Given the description of an element on the screen output the (x, y) to click on. 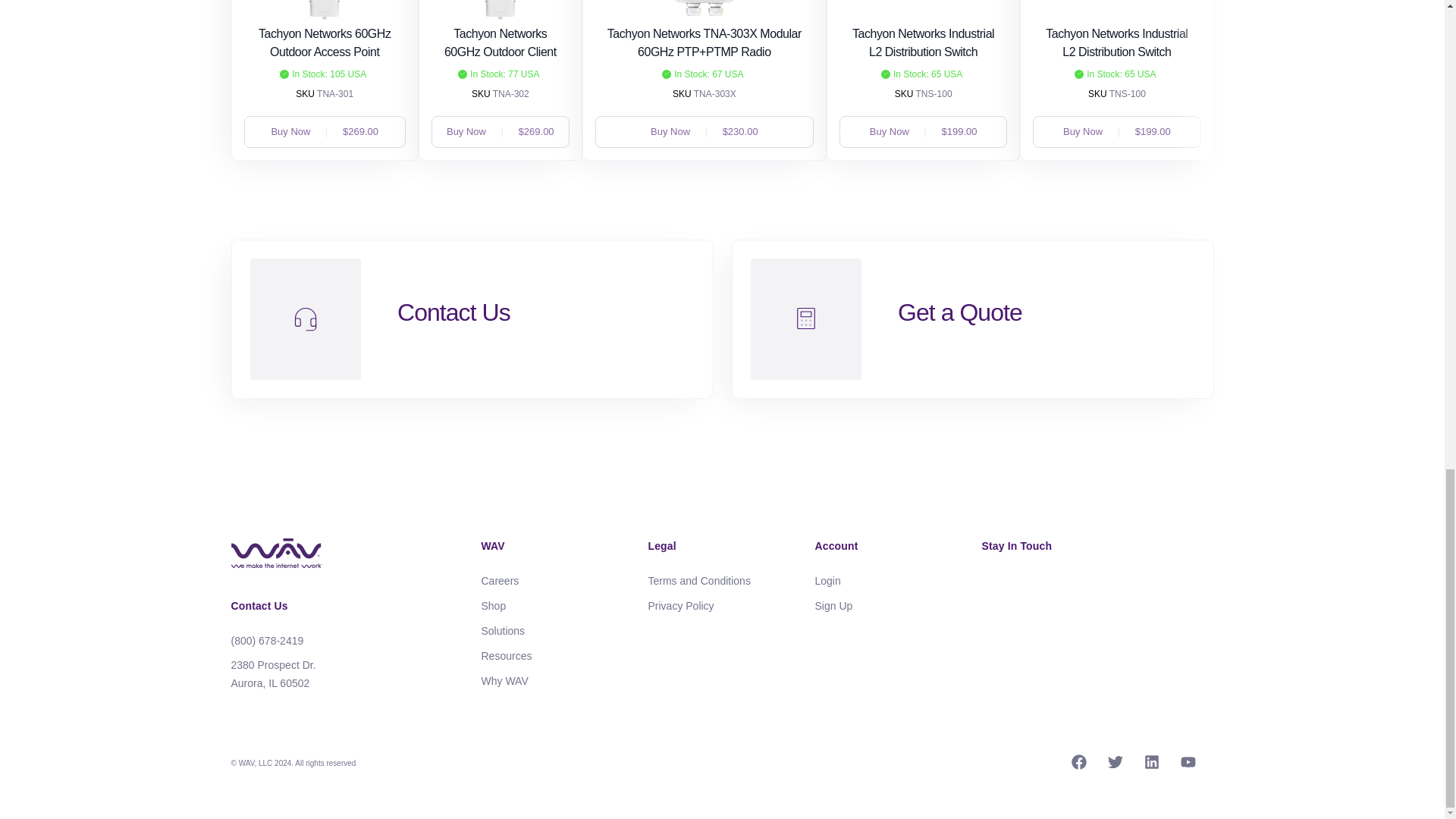
Tachyon Networks 60GHz Outdoor Access Point (324, 42)
LinkedIn (1152, 764)
Facebook (1080, 764)
Tachyon Networks 60GHz Outdoor Client (500, 42)
Twitter (1116, 764)
Tachyon Networks Industrial L2 Distribution Switch (922, 42)
Contact Us (258, 605)
Tachyon Networks Industrial L2 Distribution Switch (1116, 42)
